Given the description of an element on the screen output the (x, y) to click on. 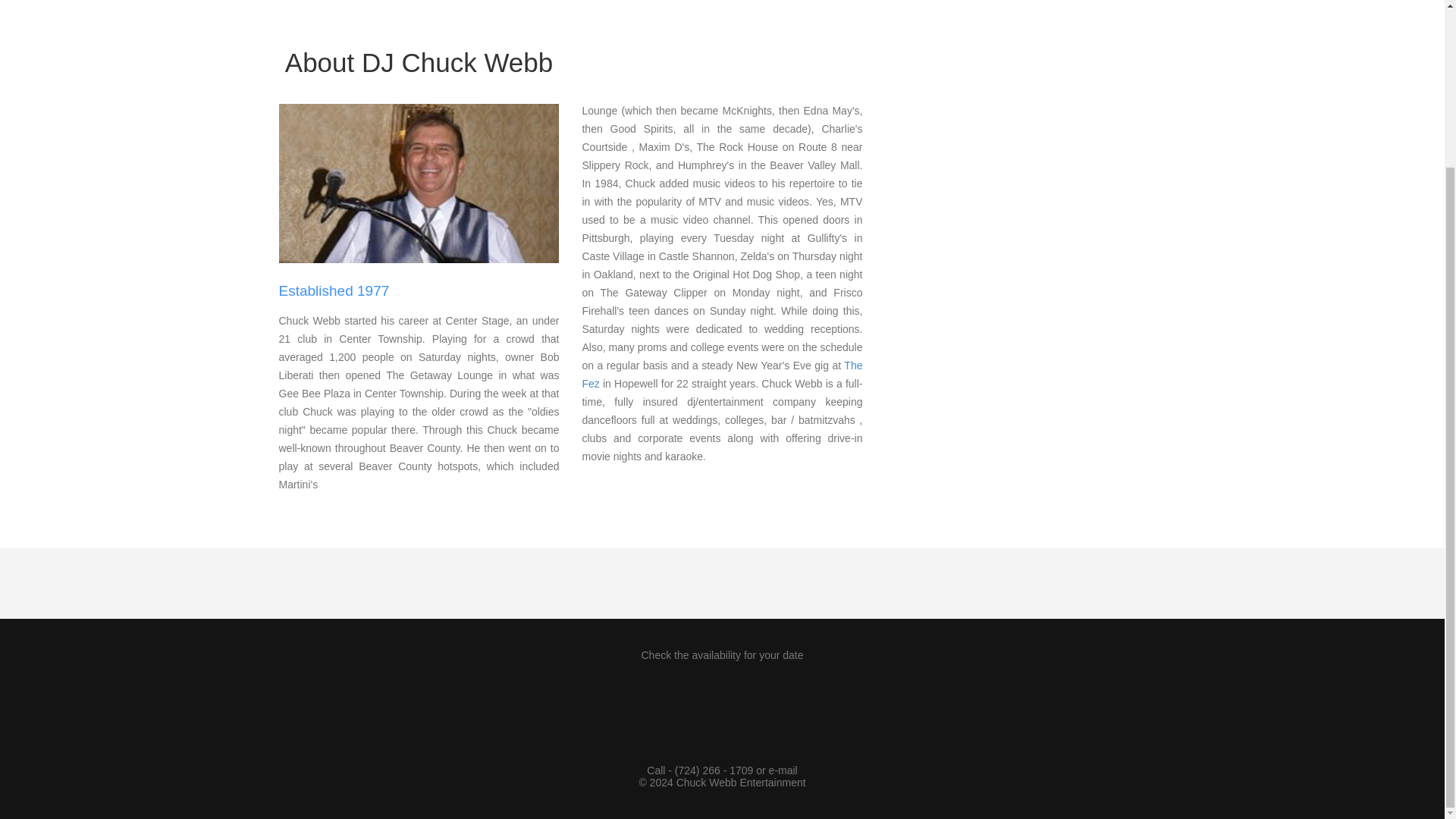
Availability Checker (718, 706)
Chuck Webb Entertainment (741, 782)
e-mail (782, 770)
The Fez (720, 374)
